Given the description of an element on the screen output the (x, y) to click on. 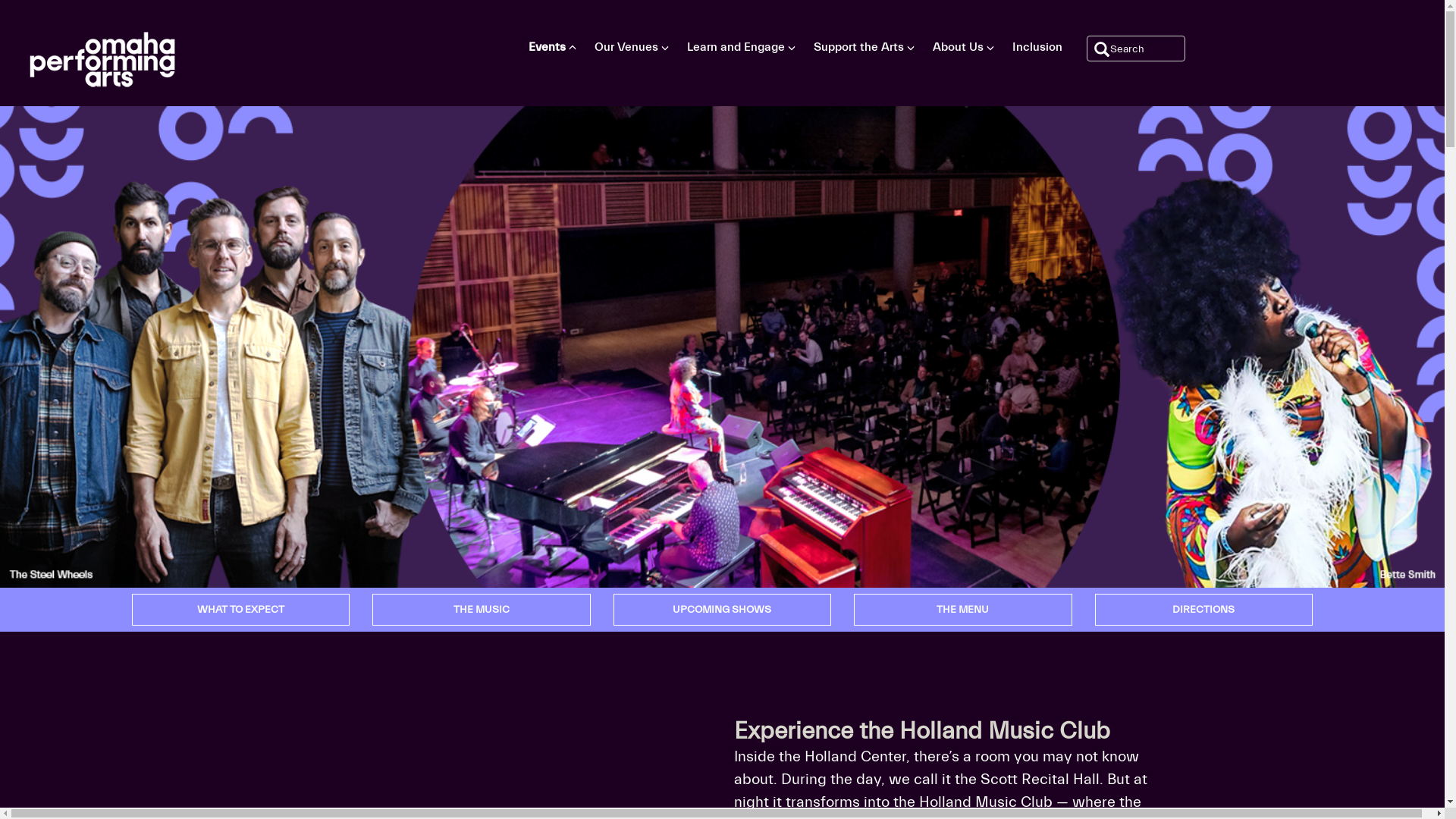
Inclusion Element type: text (1036, 46)
Support the Arts Element type: text (859, 46)
DIRECTIONS Element type: text (1203, 609)
#ResourceNotFound: NavigationResources, SearchInput# Element type: hover (1134, 48)
WHAT TO EXPECT Element type: text (240, 609)
OPA-logo-white Element type: hover (98, 55)
About Us Element type: text (959, 46)
THE MENU Element type: text (962, 609)
THE MUSIC Element type: text (480, 609)
Our Venues Element type: text (627, 46)
HMC_Header_1500x500 Element type: hover (722, 346)
Learn and Engage Element type: text (737, 46)
UPCOMING SHOWS Element type: text (722, 609)
Events Element type: text (547, 46)
